Given the description of an element on the screen output the (x, y) to click on. 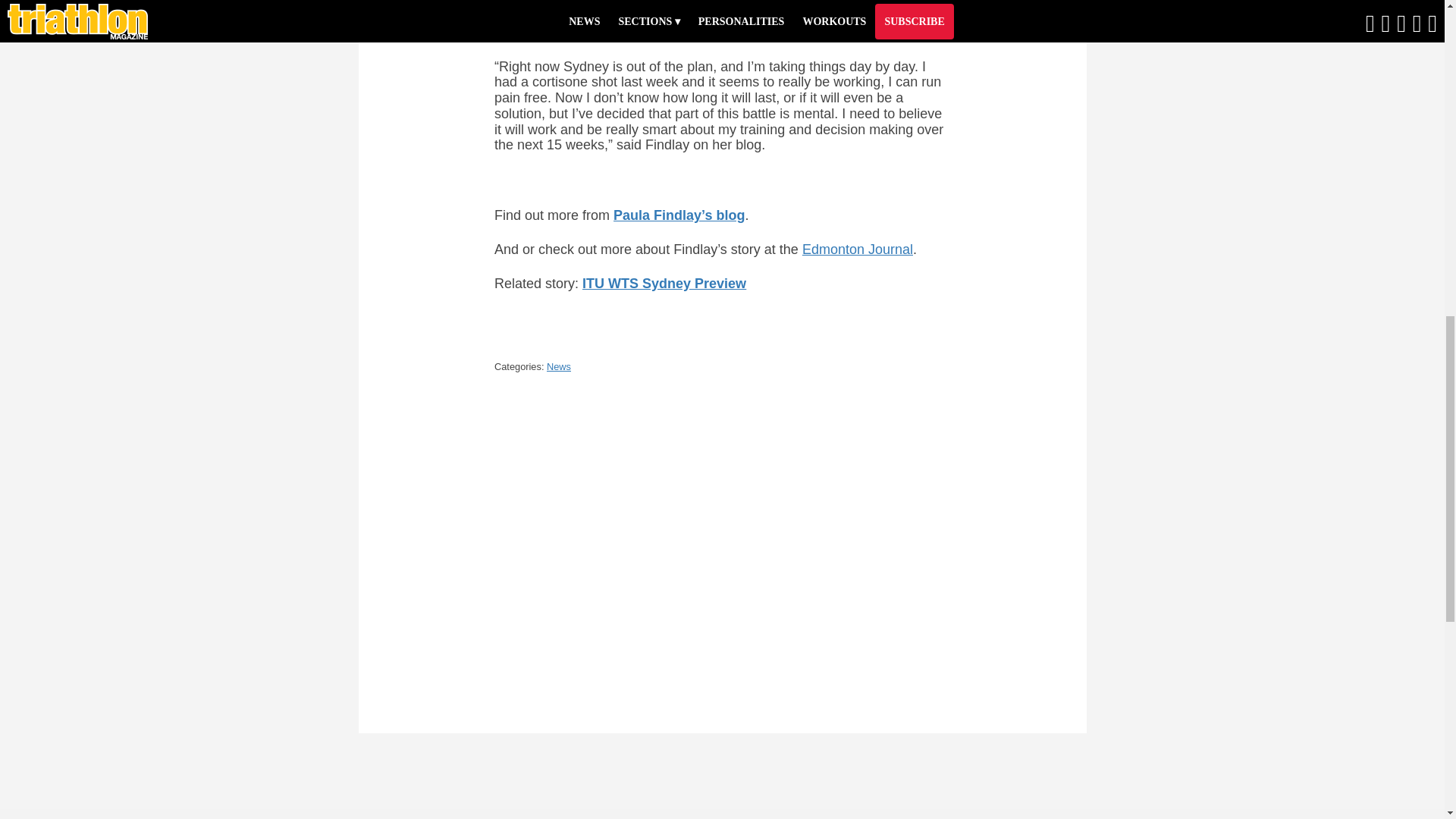
Edmonton Journal (857, 249)
ITU WTS Sydney Preview (663, 283)
News (558, 366)
3rd party ad content (1141, 92)
